Given the description of an element on the screen output the (x, y) to click on. 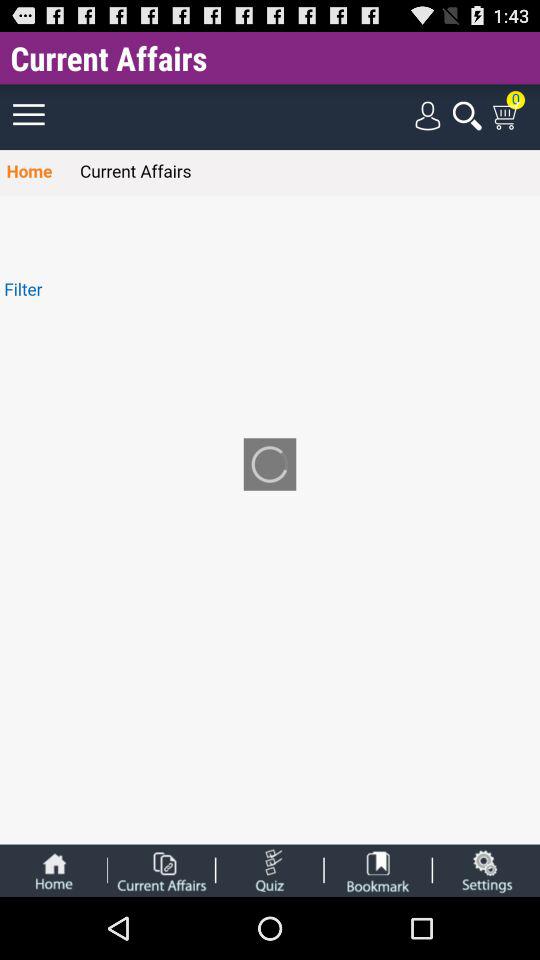
go to complete option (161, 870)
